Given the description of an element on the screen output the (x, y) to click on. 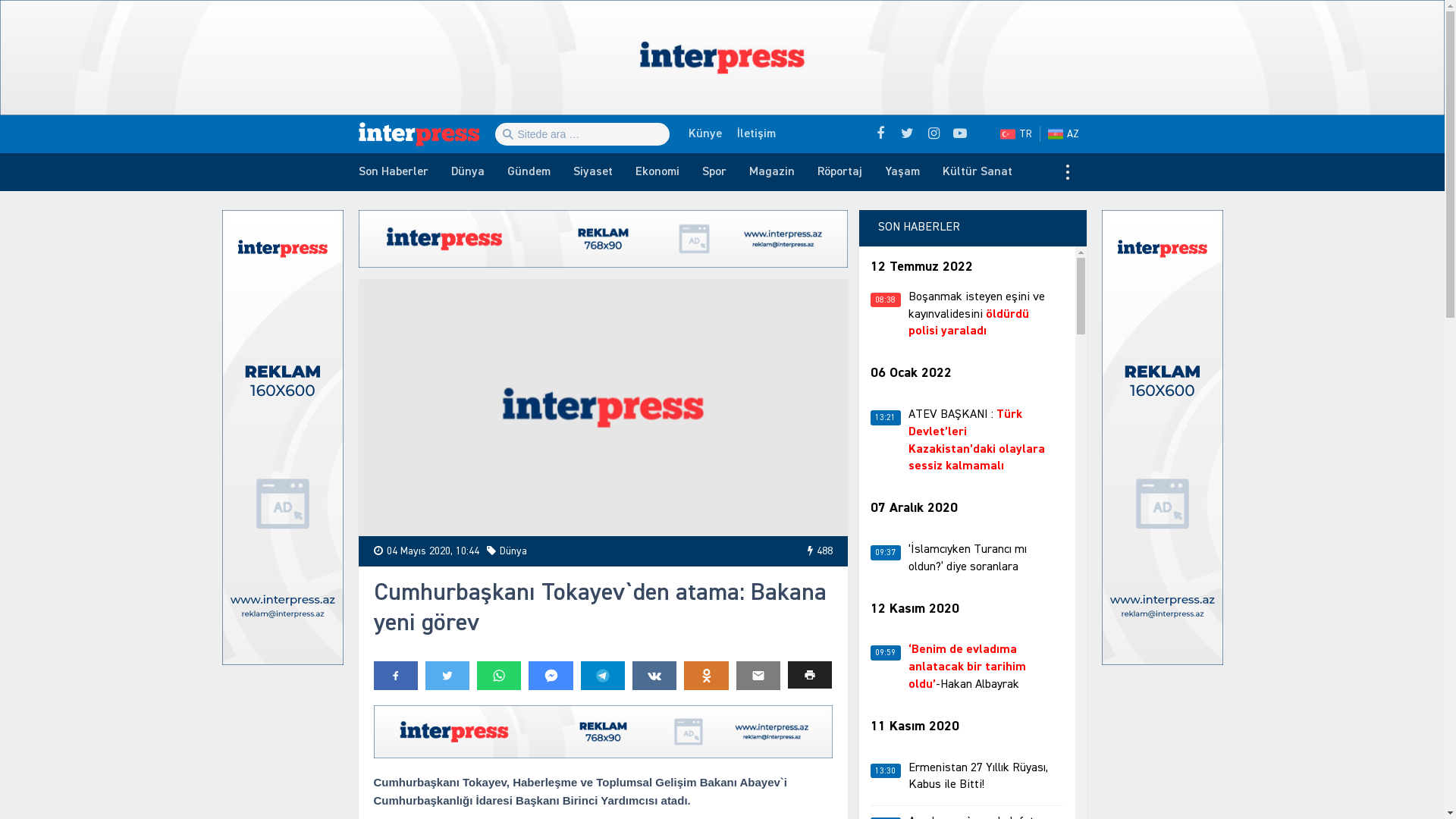
Print Element type: hover (809, 675)
!Reklam Element type: hover (602, 238)
!Reklam Element type: hover (602, 732)
Share: Messenger Element type: hover (550, 675)
TR Element type: text (1015, 133)
Ekonomi Element type: text (656, 172)
Share: Telegram Element type: hover (602, 675)
Magazin Element type: text (771, 172)
Share: Whatsapp Element type: hover (498, 675)
Siyaset Element type: text (592, 172)
!Reklam Element type: hover (722, 57)
Spor Element type: text (713, 172)
Son Haberler Element type: text (393, 172)
!Reklam Element type: hover (281, 437)
Share: Twitter Element type: hover (447, 675)
Share: Facebook Element type: hover (395, 675)
Send to e-mail Element type: hover (758, 675)
Share: VKontakte Element type: hover (654, 675)
AZ Element type: text (1067, 133)
!Reklam Element type: hover (1161, 437)
Share: Odnoklassniki Element type: hover (706, 675)
